Given the description of an element on the screen output the (x, y) to click on. 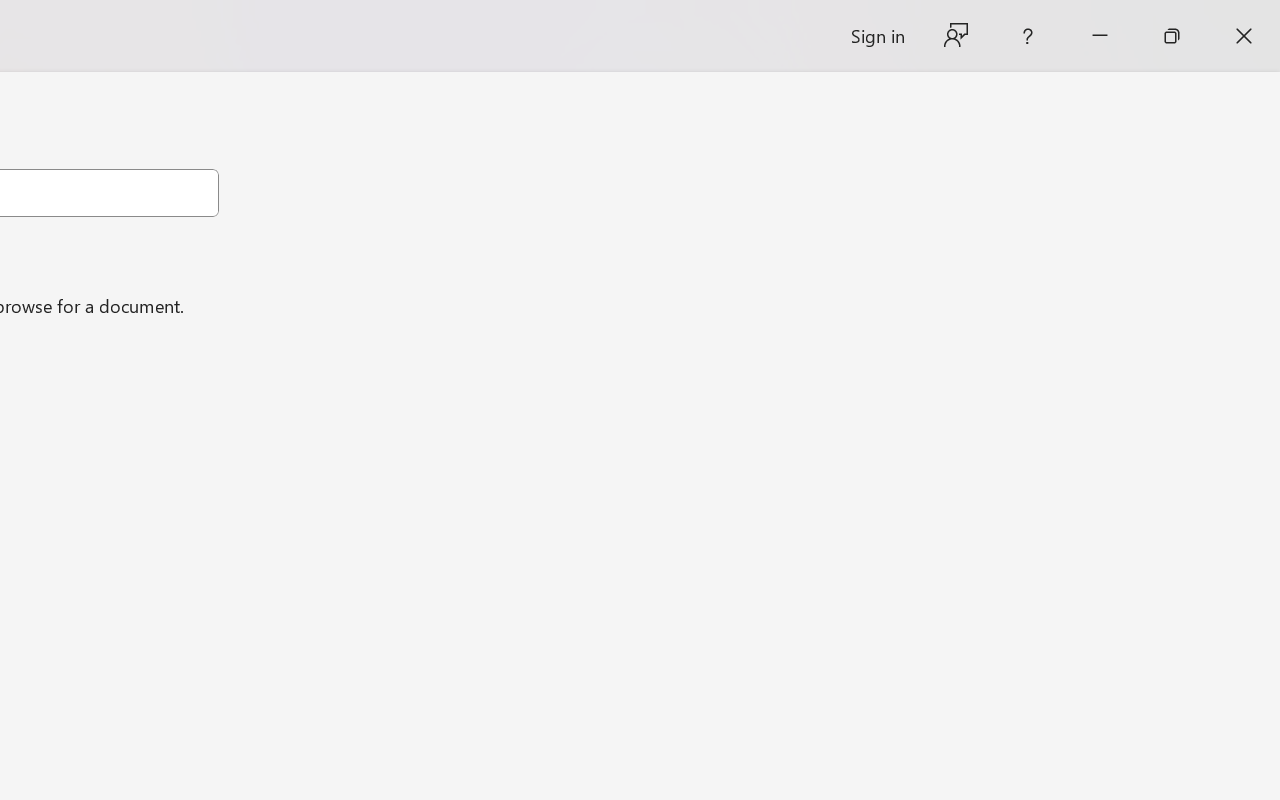
Sign in (875, 35)
